Given the description of an element on the screen output the (x, y) to click on. 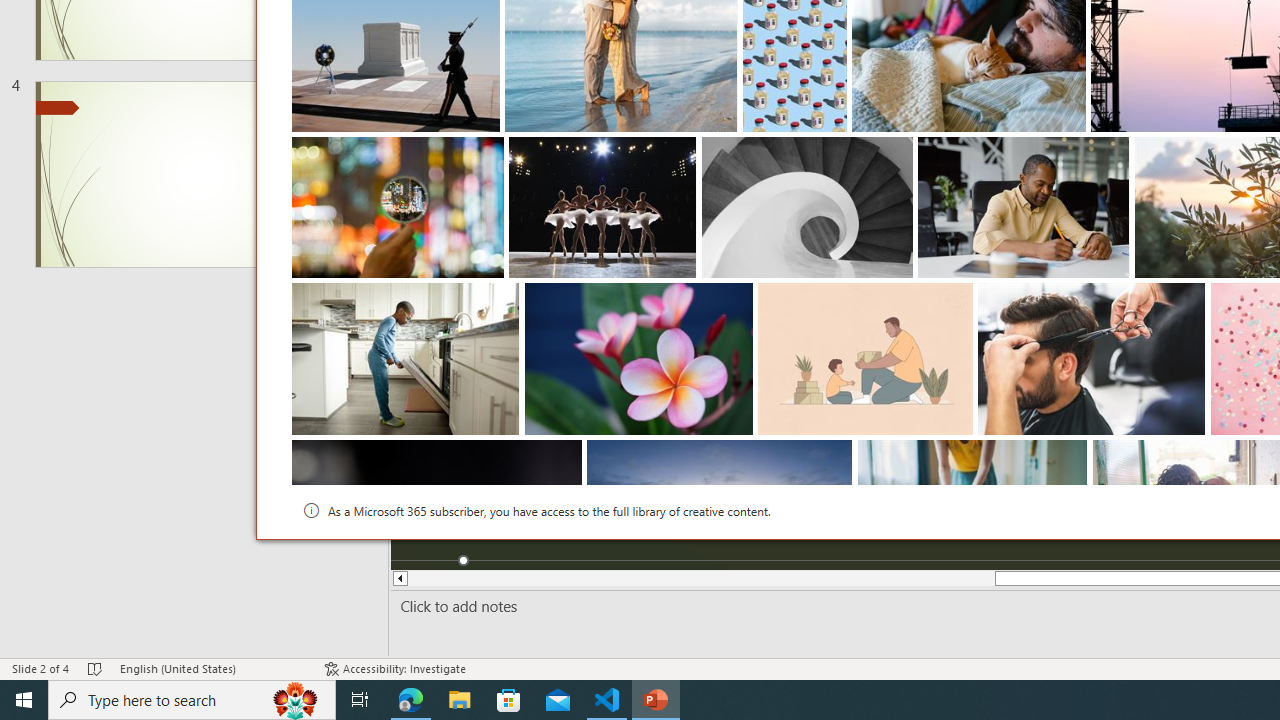
File Explorer (460, 699)
Search highlights icon opens search home window (295, 699)
Thumbnail (1073, 454)
Visual Studio Code - 1 running window (607, 699)
Type here to search (191, 699)
Microsoft Store (509, 699)
